Given the description of an element on the screen output the (x, y) to click on. 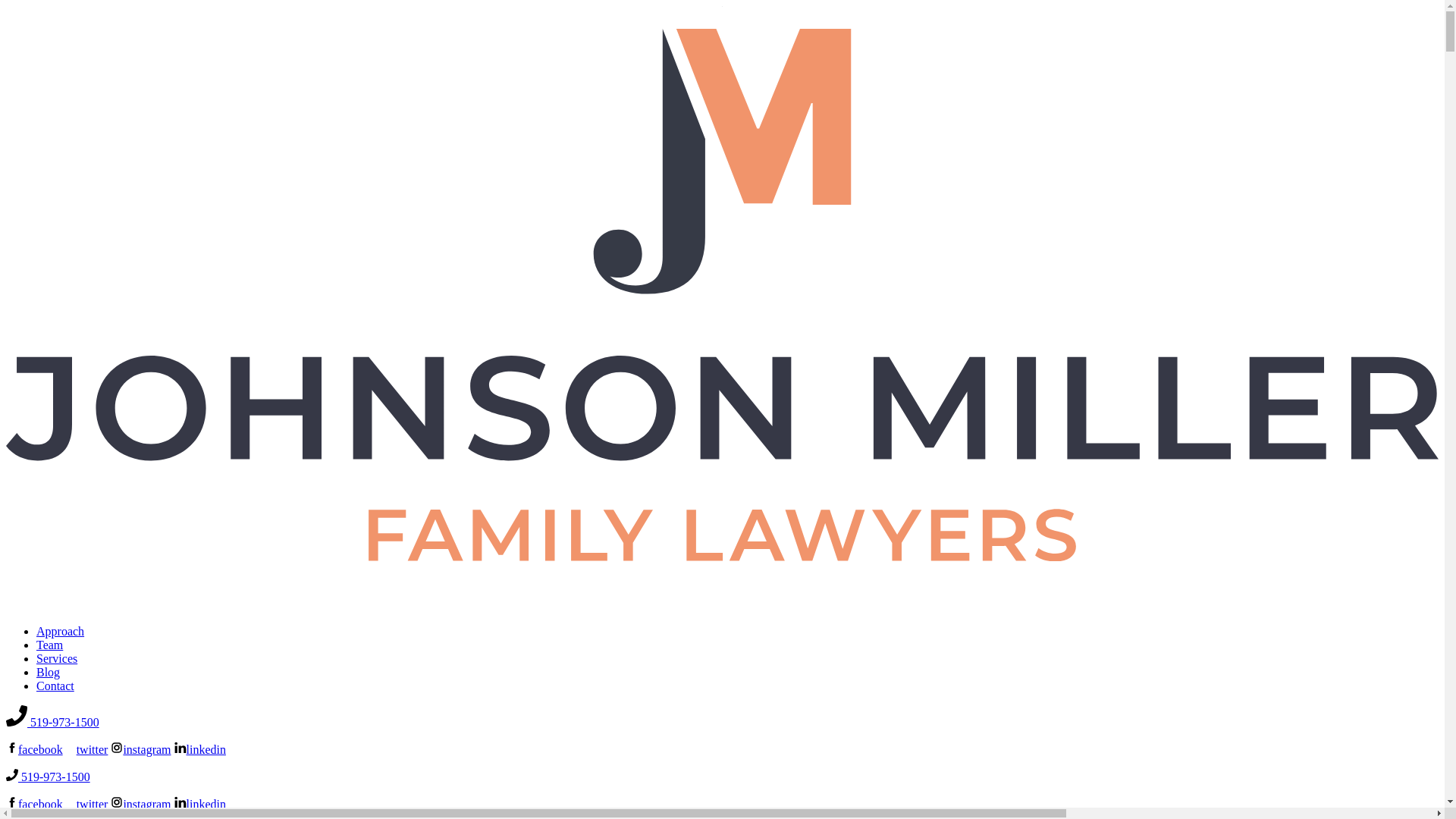
instagram (140, 803)
twitter (86, 748)
linkedin (199, 748)
Services (56, 658)
519-973-1500 (47, 776)
519-973-1500 (52, 721)
Contact (55, 685)
Team (49, 644)
twitter (86, 803)
instagram (140, 748)
